Given the description of an element on the screen output the (x, y) to click on. 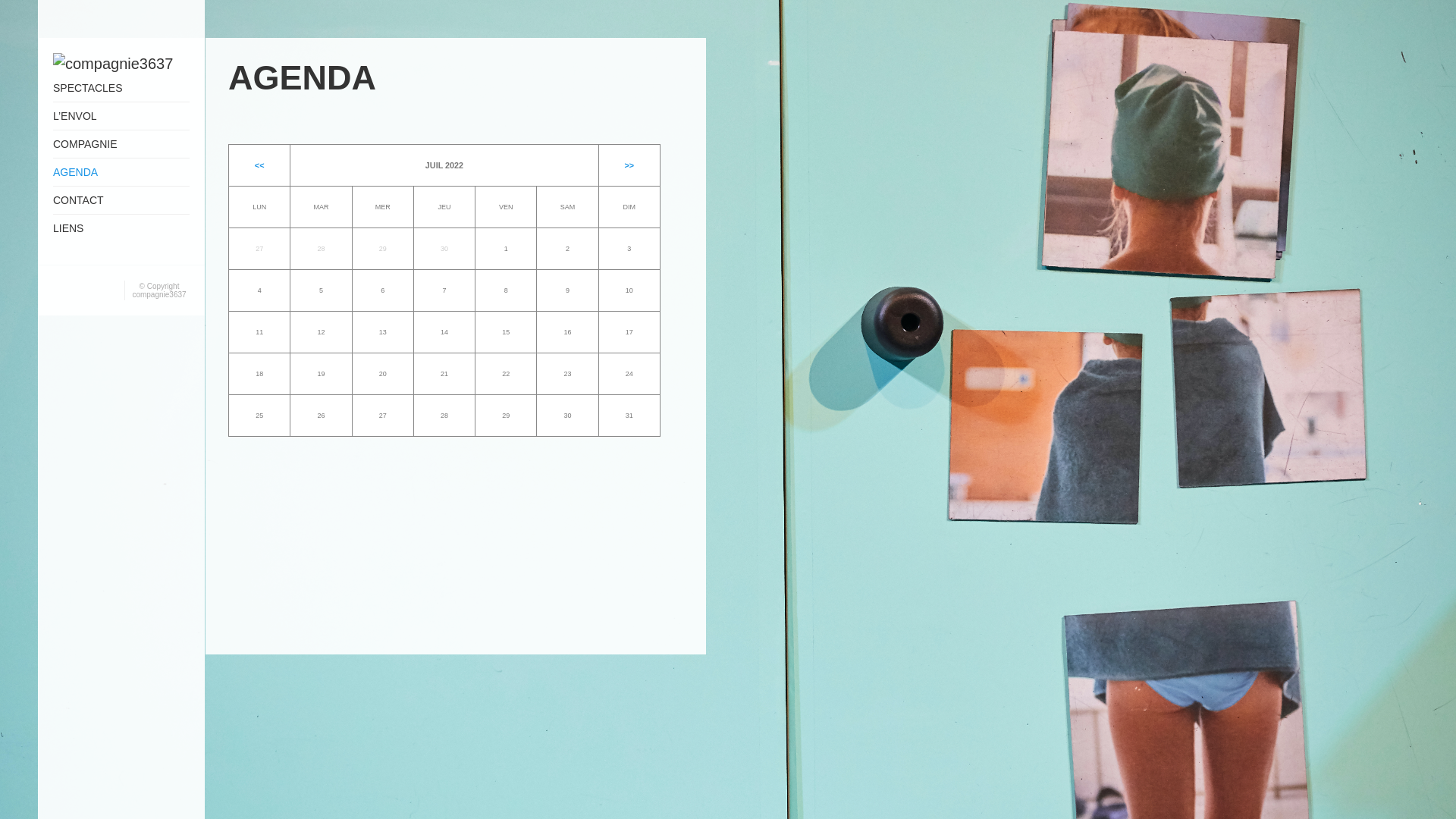
LIENS Element type: text (121, 227)
CONTACT Element type: text (121, 200)
COMPAGNIE Element type: text (121, 144)
<< Element type: text (259, 164)
>> Element type: text (629, 164)
AGENDA Element type: text (121, 172)
compagnie3637 Element type: text (158, 294)
SPECTACLES Element type: text (121, 88)
